Given the description of an element on the screen output the (x, y) to click on. 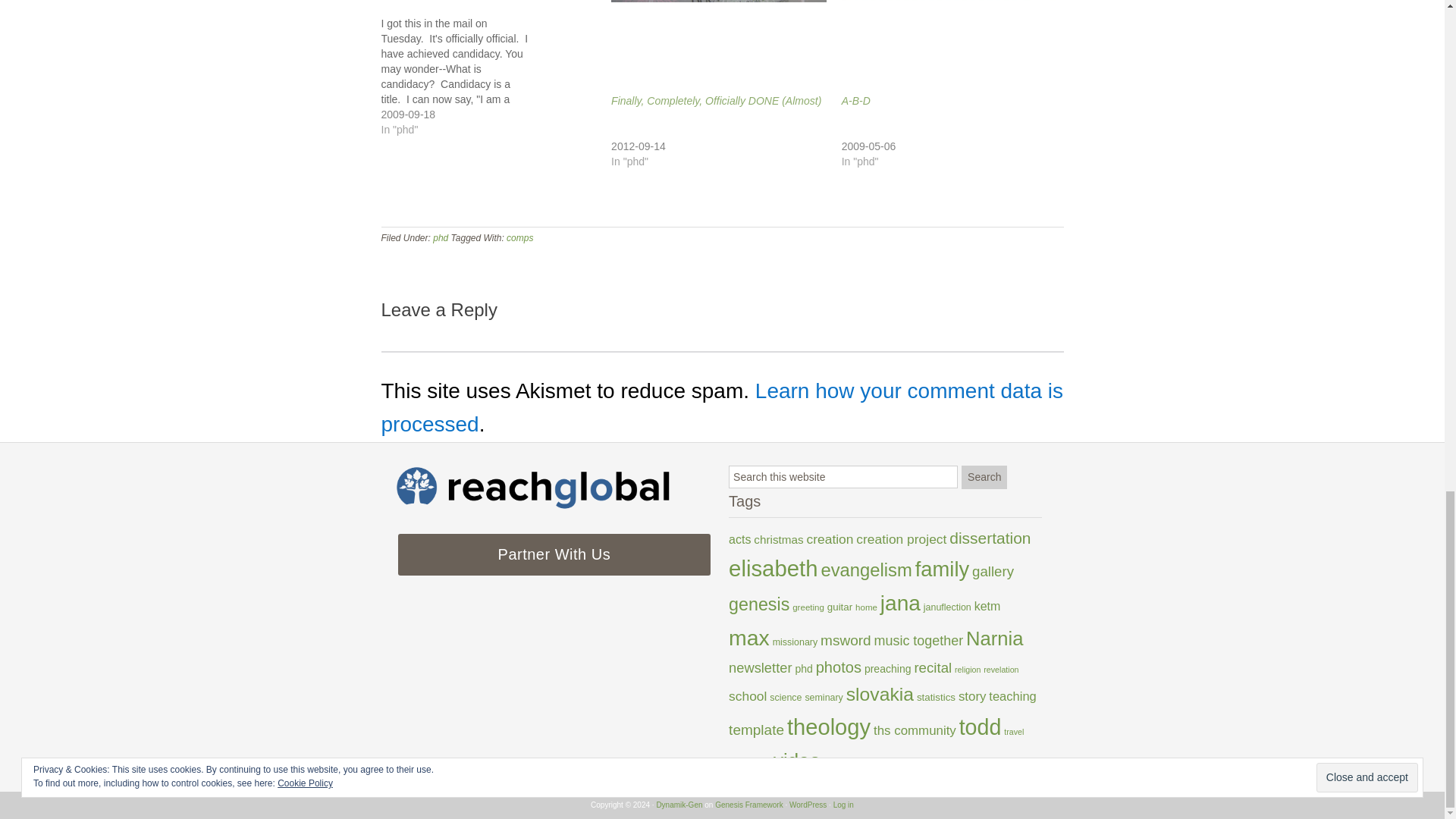
A-B-D (855, 101)
phd (440, 237)
Partner With Us (553, 554)
Learn how your comment data is processed (721, 407)
christmas (778, 539)
Search (983, 477)
Search (983, 477)
comps (519, 237)
Search (983, 477)
Announcing My Candidacy (495, 76)
Partner With Us (553, 555)
acts (740, 539)
creation (829, 539)
